Given the description of an element on the screen output the (x, y) to click on. 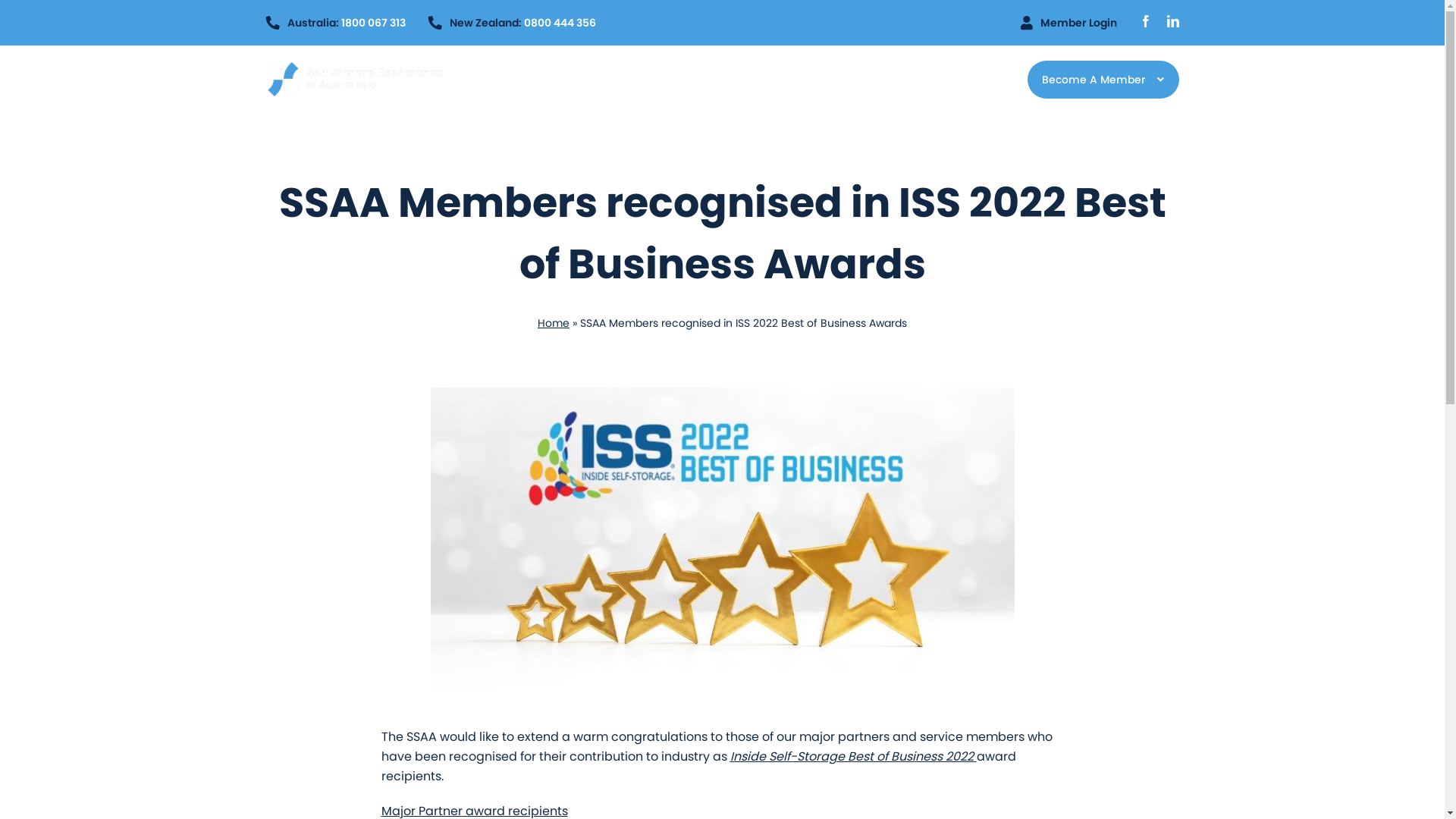
Member Login Element type: text (1068, 22)
LinkedIn Element type: text (1172, 21)
Inside Self-Storage Best of Business 2022 Element type: text (852, 756)
Member Benefits Element type: text (650, 79)
Events Element type: text (830, 79)
About Element type: text (557, 79)
Home Element type: text (553, 322)
Contact Us Element type: text (907, 79)
Become A Member Element type: text (1102, 79)
Facebook Element type: text (1145, 21)
Resources Element type: text (756, 79)
